Given the description of an element on the screen output the (x, y) to click on. 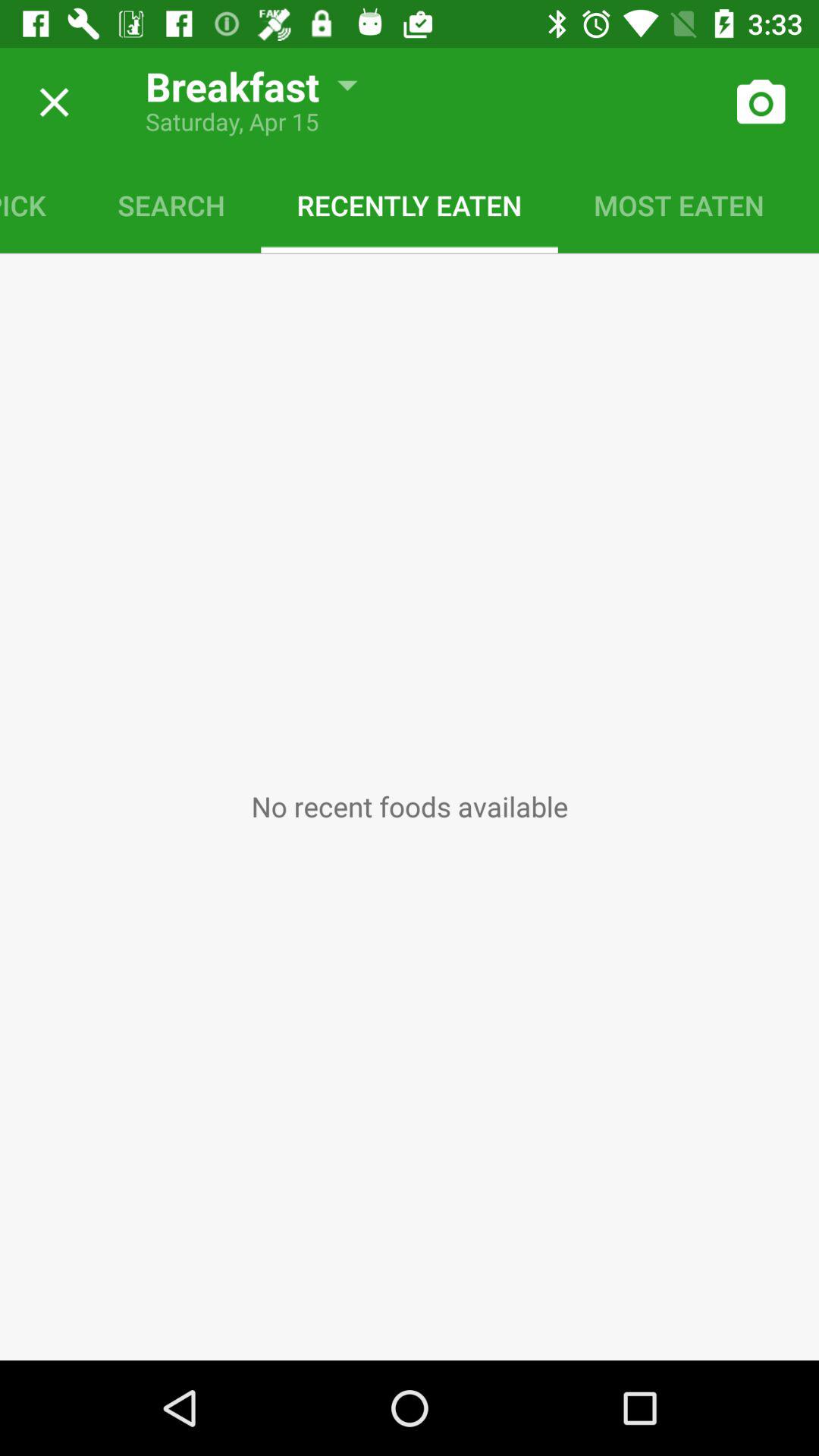
take a photo (760, 102)
